Given the description of an element on the screen output the (x, y) to click on. 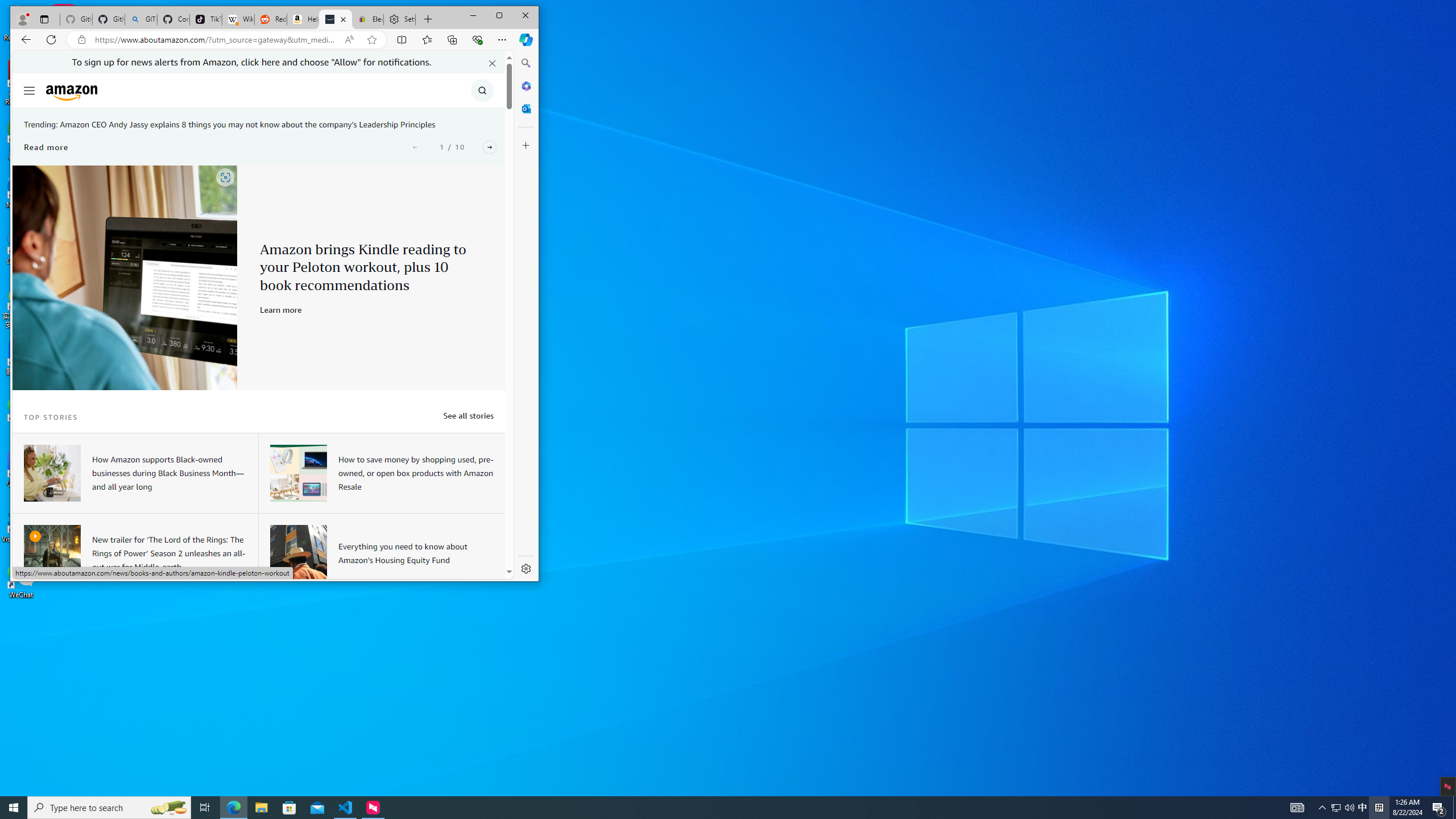
Visual Studio Code - 1 running window (345, 807)
Class: flickity-button-icon (489, 146)
Read more (45, 146)
File Explorer (261, 807)
Peloton x Kindle (125, 277)
Q2790: 100% (1349, 807)
See all stories (467, 415)
